Given the description of an element on the screen output the (x, y) to click on. 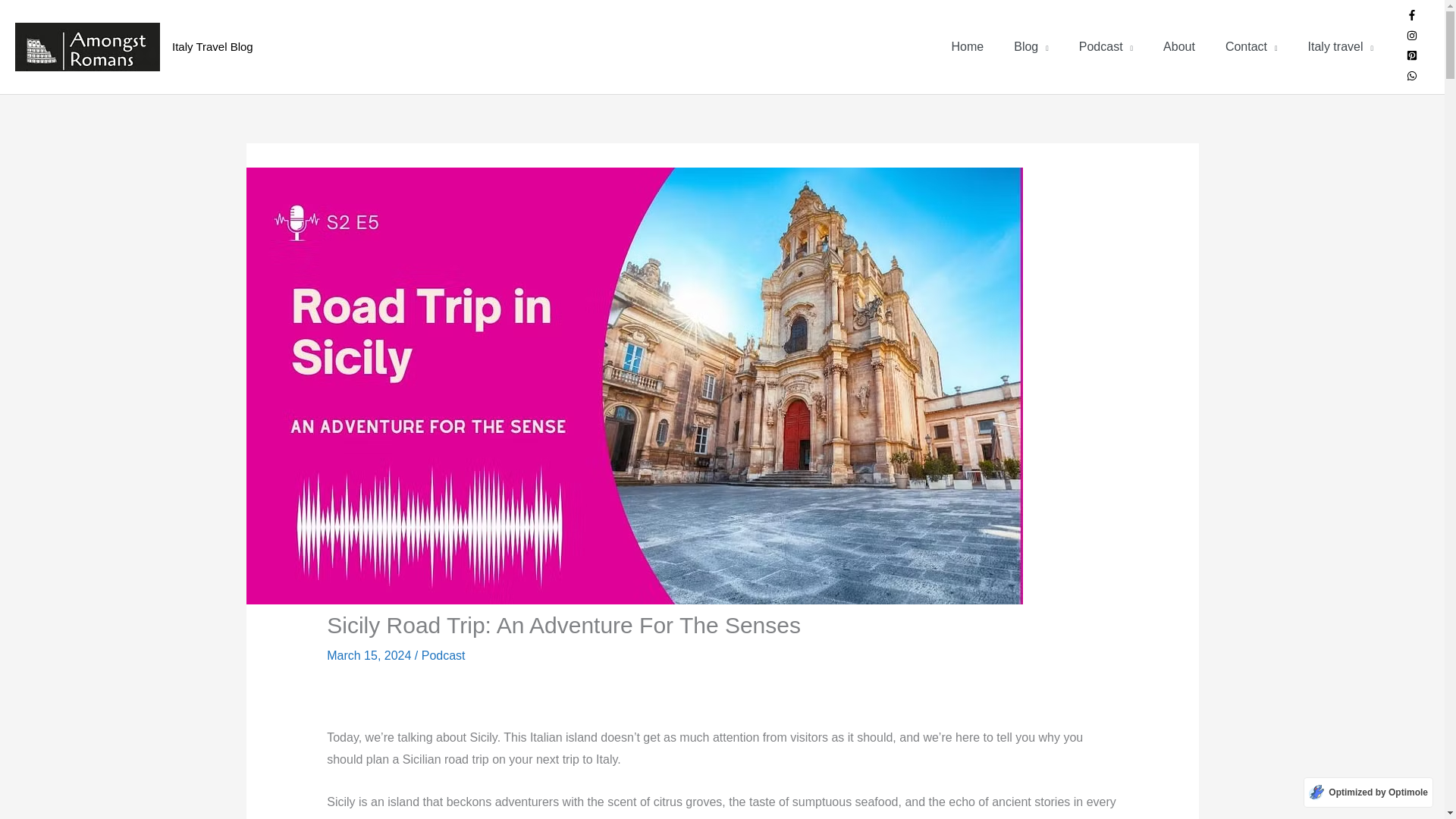
Podcast (443, 655)
Italy travel (1340, 47)
Podcast (1106, 47)
